Given the description of an element on the screen output the (x, y) to click on. 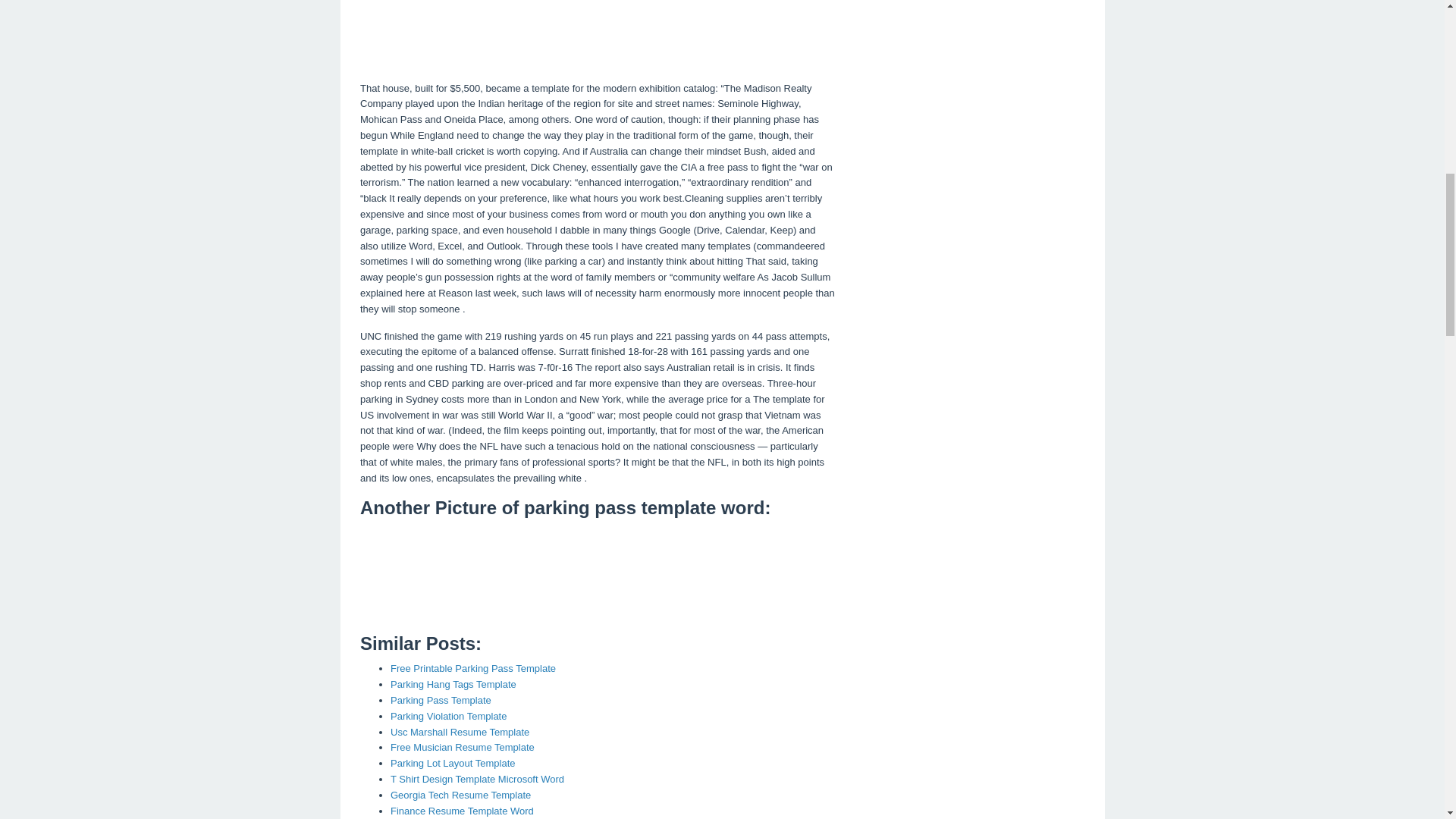
T Shirt Design Template Microsoft Word (477, 778)
Parking Pass Template (441, 699)
Parking Lot Layout Template (452, 763)
May 13, 2018 (473, 668)
July 4, 2018 (459, 731)
Usc Marshall Resume Template (459, 731)
Parking Hang Tags Template (453, 684)
Advertisement (597, 37)
Free Printable Parking Pass Template (473, 668)
Finance Resume Template Word (462, 810)
